Given the description of an element on the screen output the (x, y) to click on. 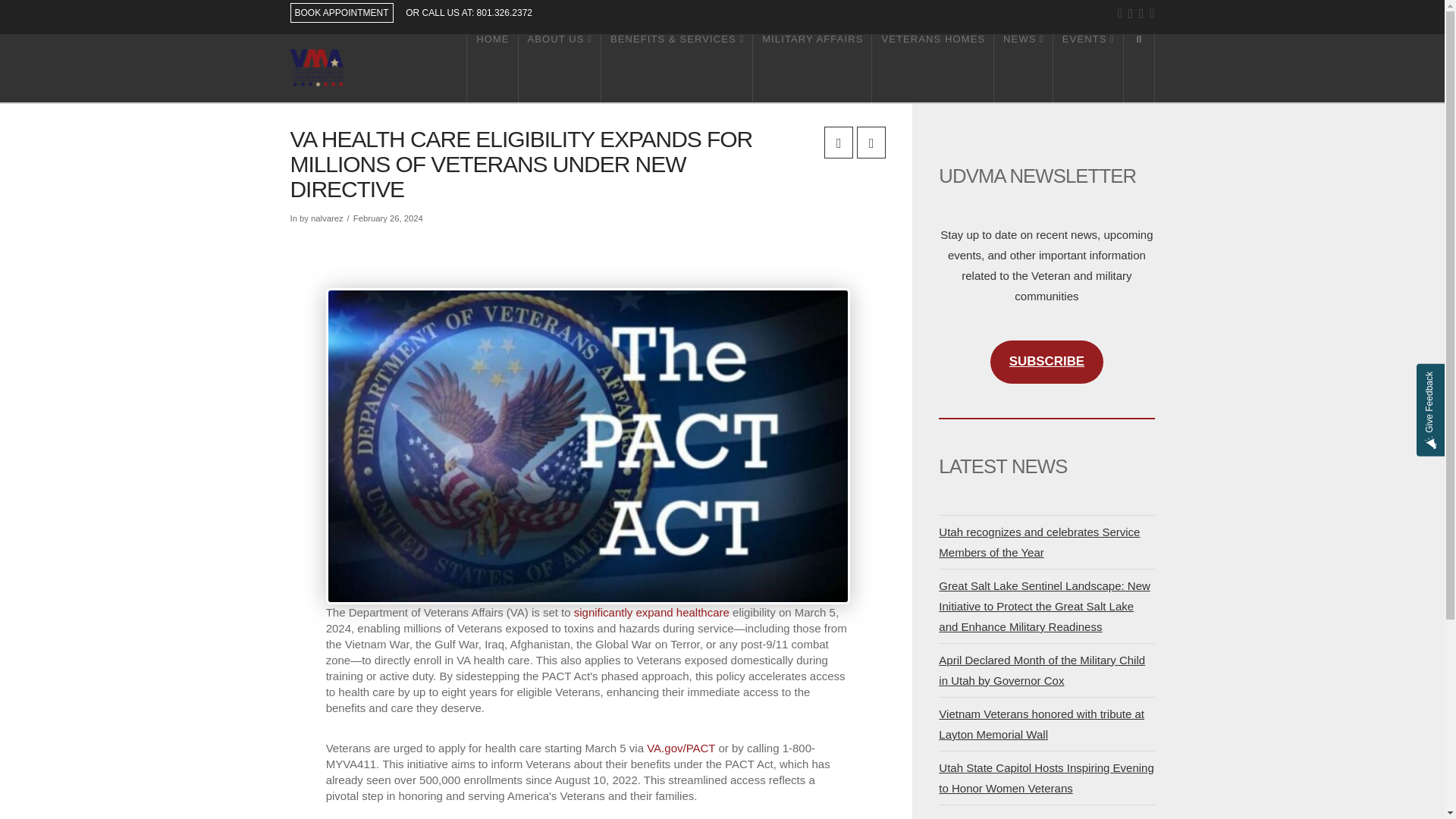
MILITARY AFFAIRS (812, 68)
OR CALL US AT: 801.326.2372 (469, 12)
ABOUT US (559, 68)
VETERANS HOMES (933, 68)
EVENTS (1088, 68)
BOOK APPOINTMENT (341, 12)
